Given the description of an element on the screen output the (x, y) to click on. 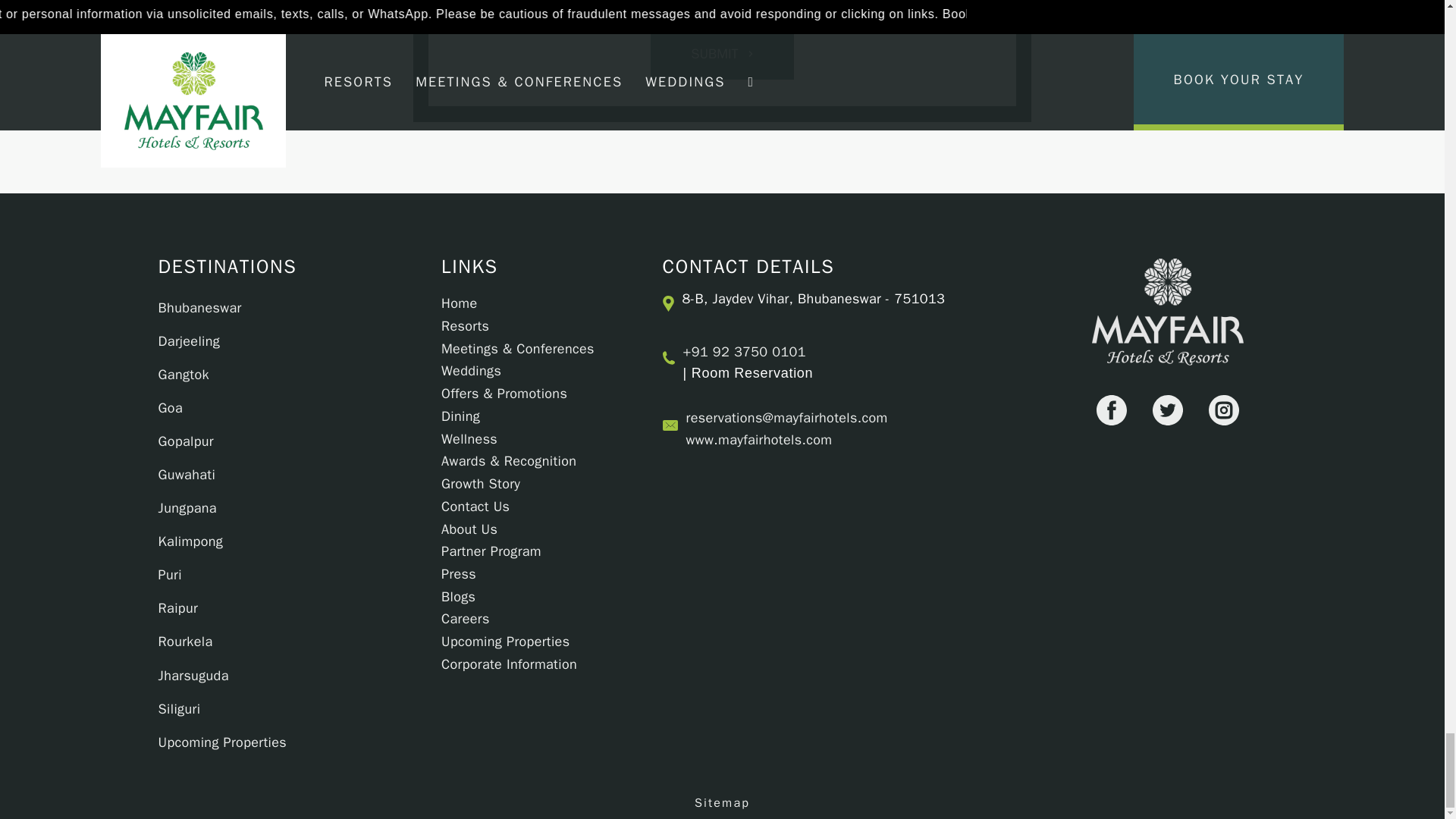
click here for sitemap (721, 803)
